Given the description of an element on the screen output the (x, y) to click on. 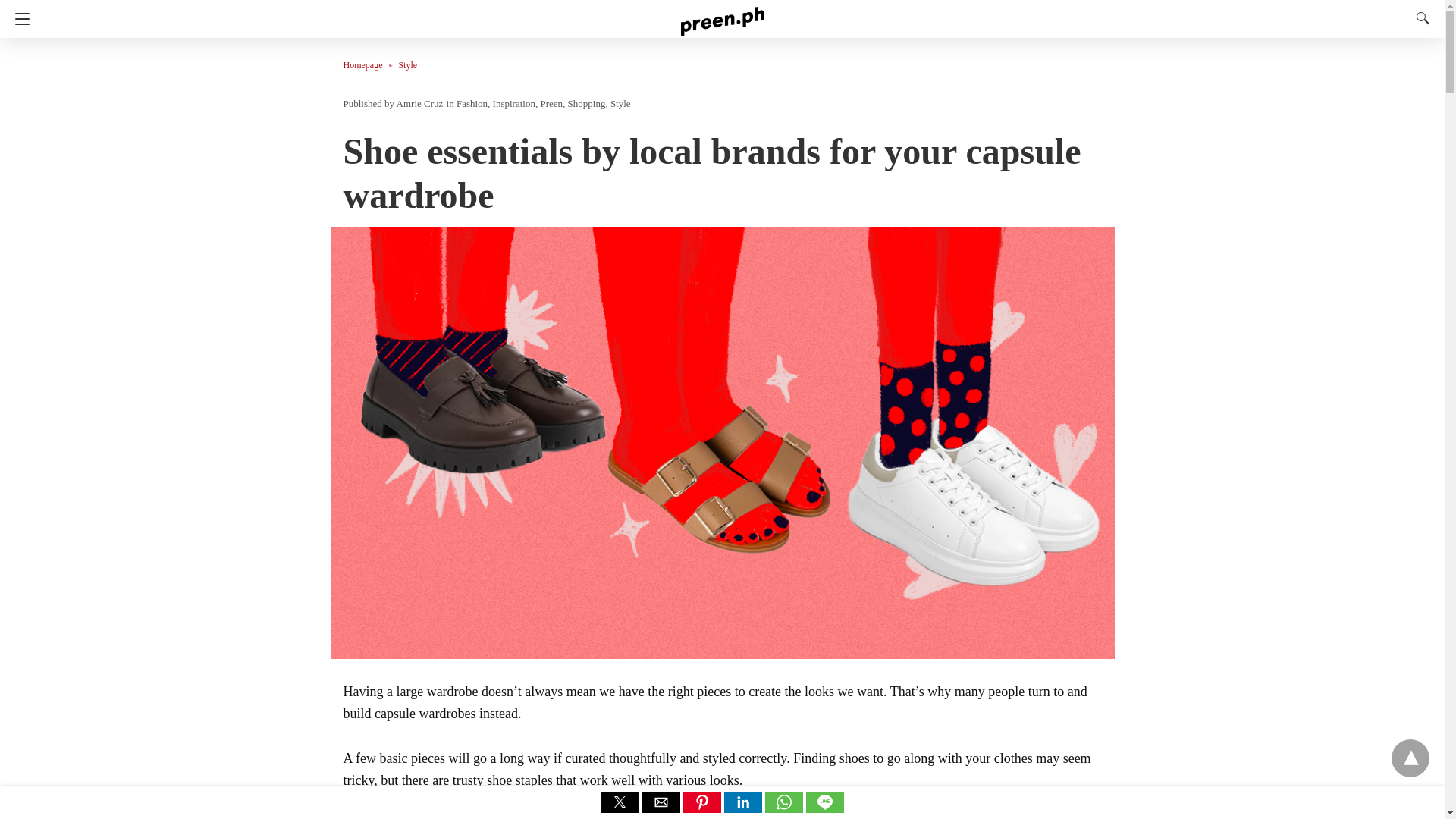
Style (620, 102)
Style (406, 64)
Fashion (472, 102)
Style (406, 64)
Homepage (369, 64)
Homepage (369, 64)
Preen (551, 102)
Inspiration (514, 102)
Shopping (586, 102)
Preen.ph (722, 14)
